Given the description of an element on the screen output the (x, y) to click on. 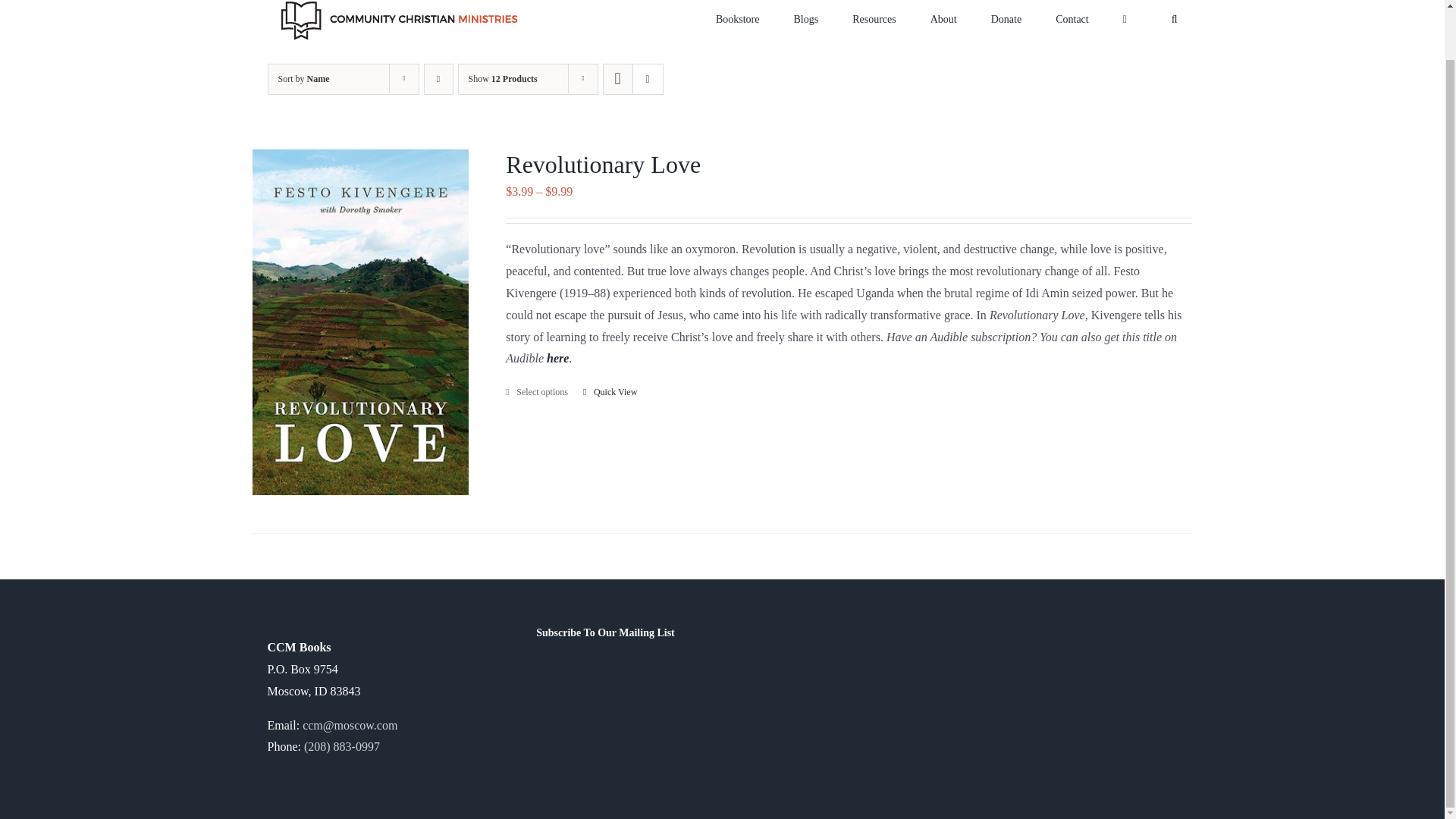
Sort by Name (303, 78)
Contact (1072, 29)
Search (1174, 29)
Donate (1006, 29)
Bookstore (738, 29)
About (943, 29)
Resources (873, 29)
Show 12 Products (502, 78)
Revolutionary Love (602, 164)
Blogs (805, 29)
